Given the description of an element on the screen output the (x, y) to click on. 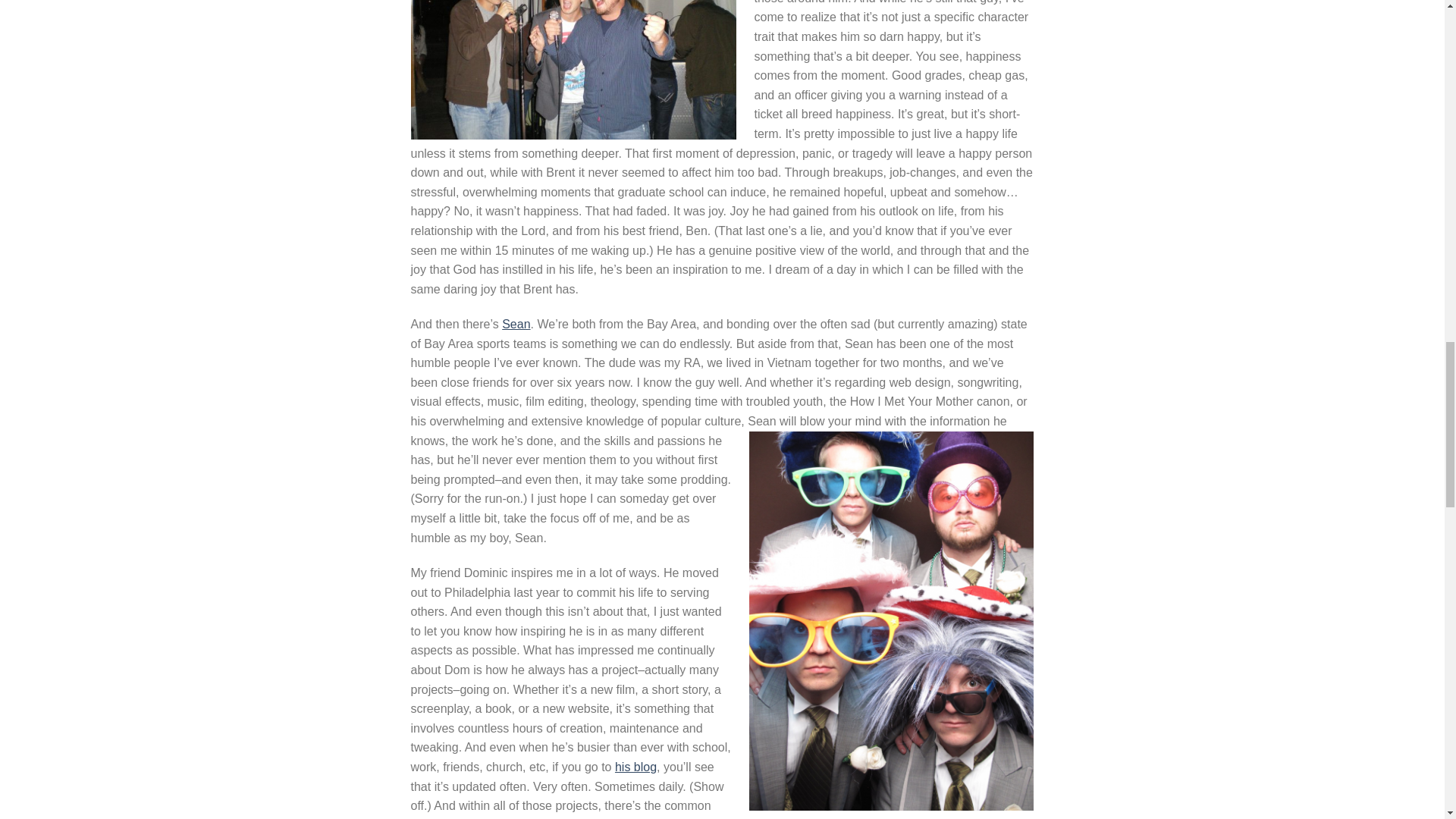
Sean (515, 323)
his blog (635, 766)
